Given the description of an element on the screen output the (x, y) to click on. 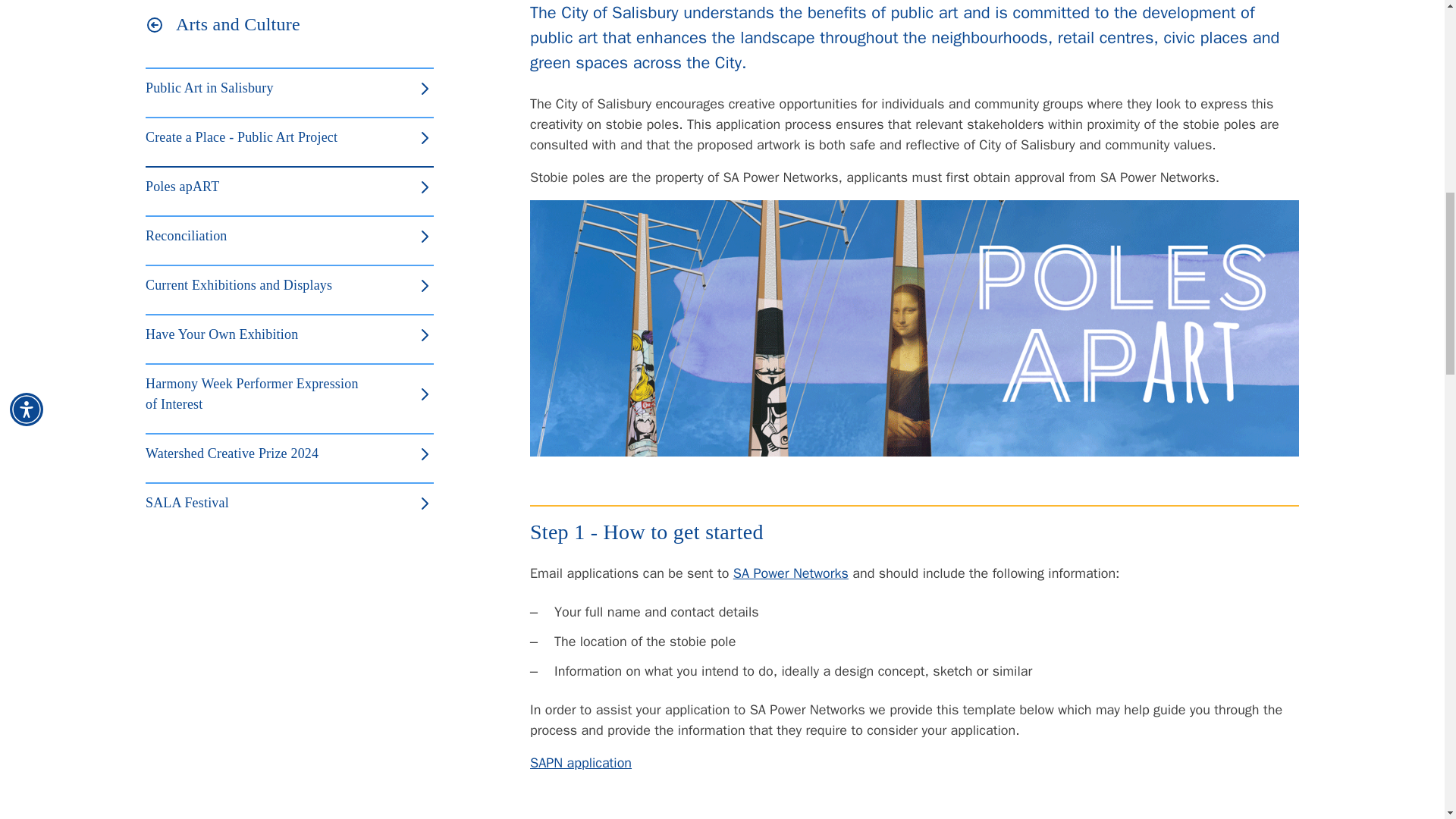
SAPN application stobie pole art (580, 762)
